Given the description of an element on the screen output the (x, y) to click on. 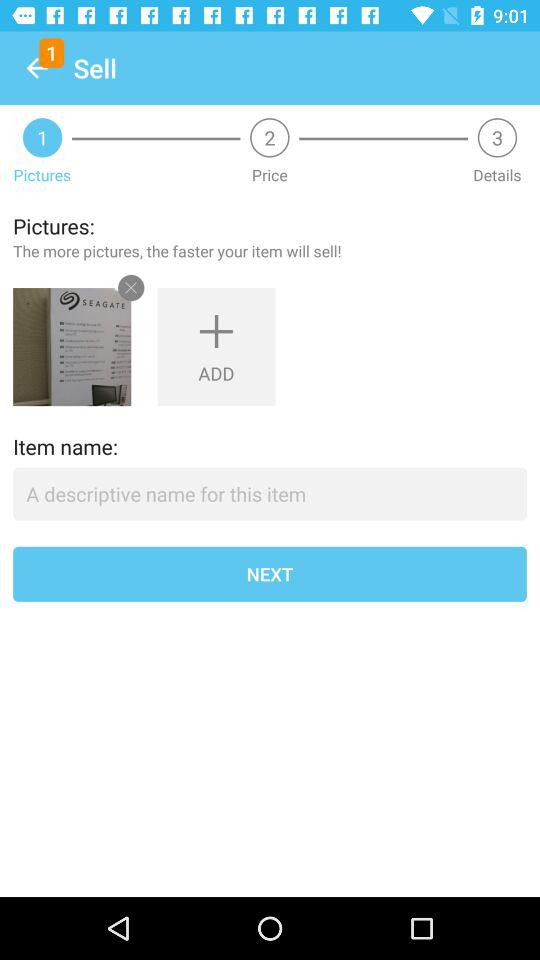
view or delete picture (72, 347)
